Given the description of an element on the screen output the (x, y) to click on. 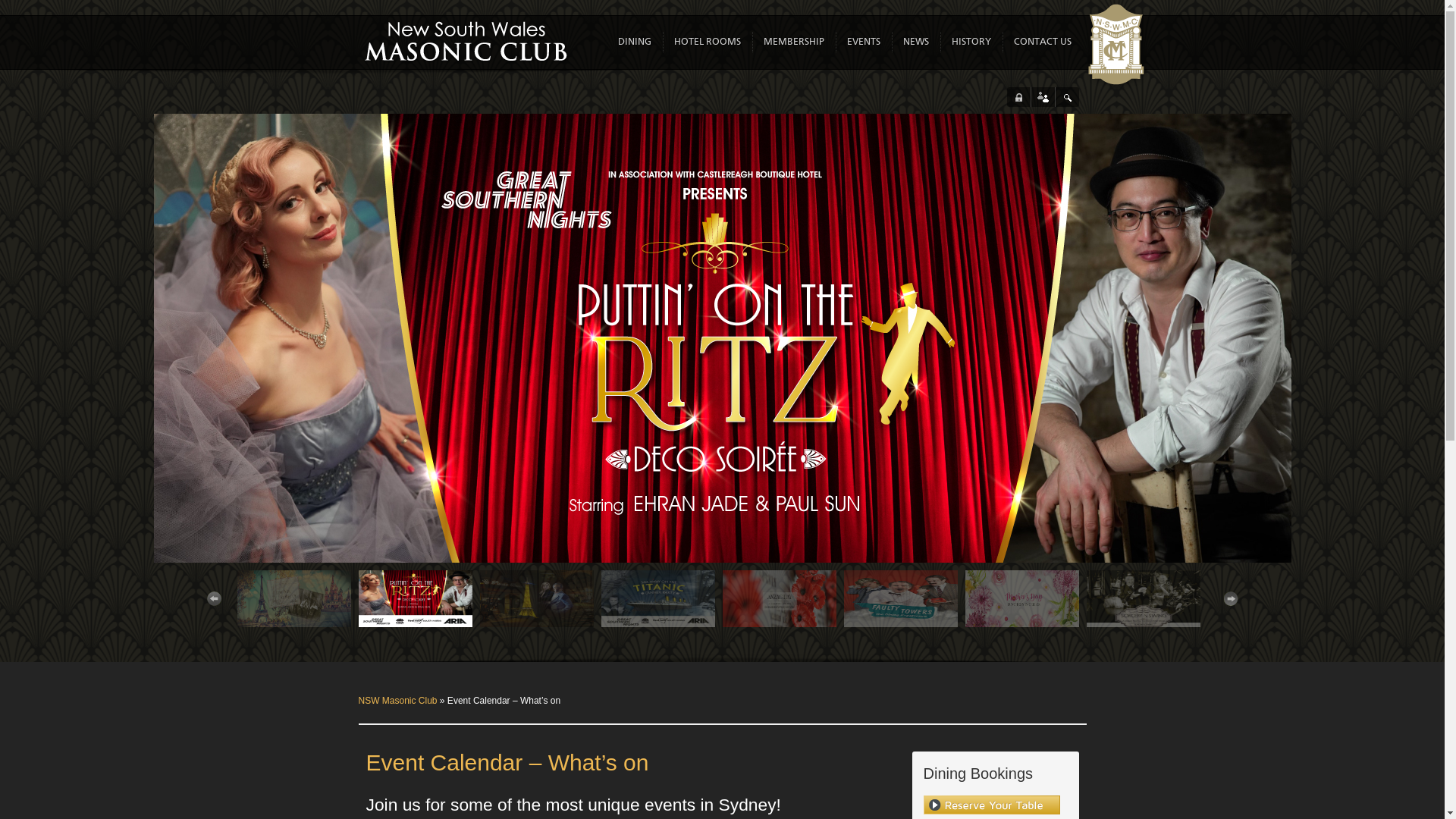
NSW Masonic Club Element type: text (396, 700)
EVENTS Element type: text (862, 41)
MEMBERSHIP Element type: text (792, 41)
DINING Element type: text (633, 41)
Log In Element type: text (1017, 96)
NEWS Element type: text (915, 41)
HISTORY Element type: text (970, 41)
Social links Element type: text (1041, 96)
Search Element type: text (1066, 96)
HOTEL ROOMS Element type: text (706, 41)
CONTACT US Element type: text (1041, 41)
